Given the description of an element on the screen output the (x, y) to click on. 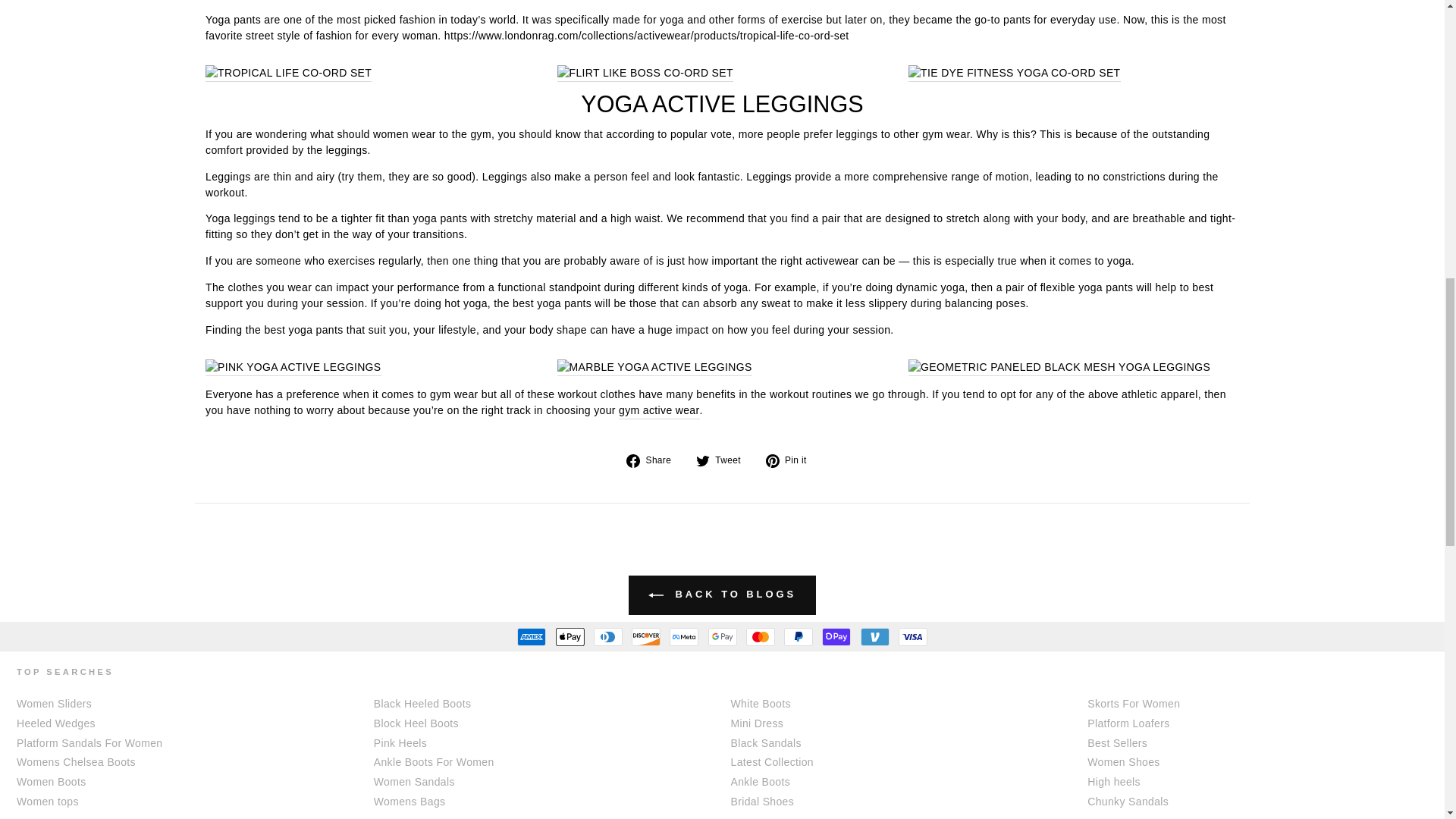
Apple Pay (568, 637)
Shop Pay (836, 637)
Diners Club (608, 637)
ICON-LEFT-ARROW (655, 595)
Google Pay (721, 637)
Discover (646, 637)
Venmo (874, 637)
Share on Facebook (654, 460)
twitter (702, 460)
American Express (531, 637)
Tweet on Twitter (723, 460)
Meta Pay (683, 637)
PayPal (798, 637)
Visa (912, 637)
Mastercard (759, 637)
